Given the description of an element on the screen output the (x, y) to click on. 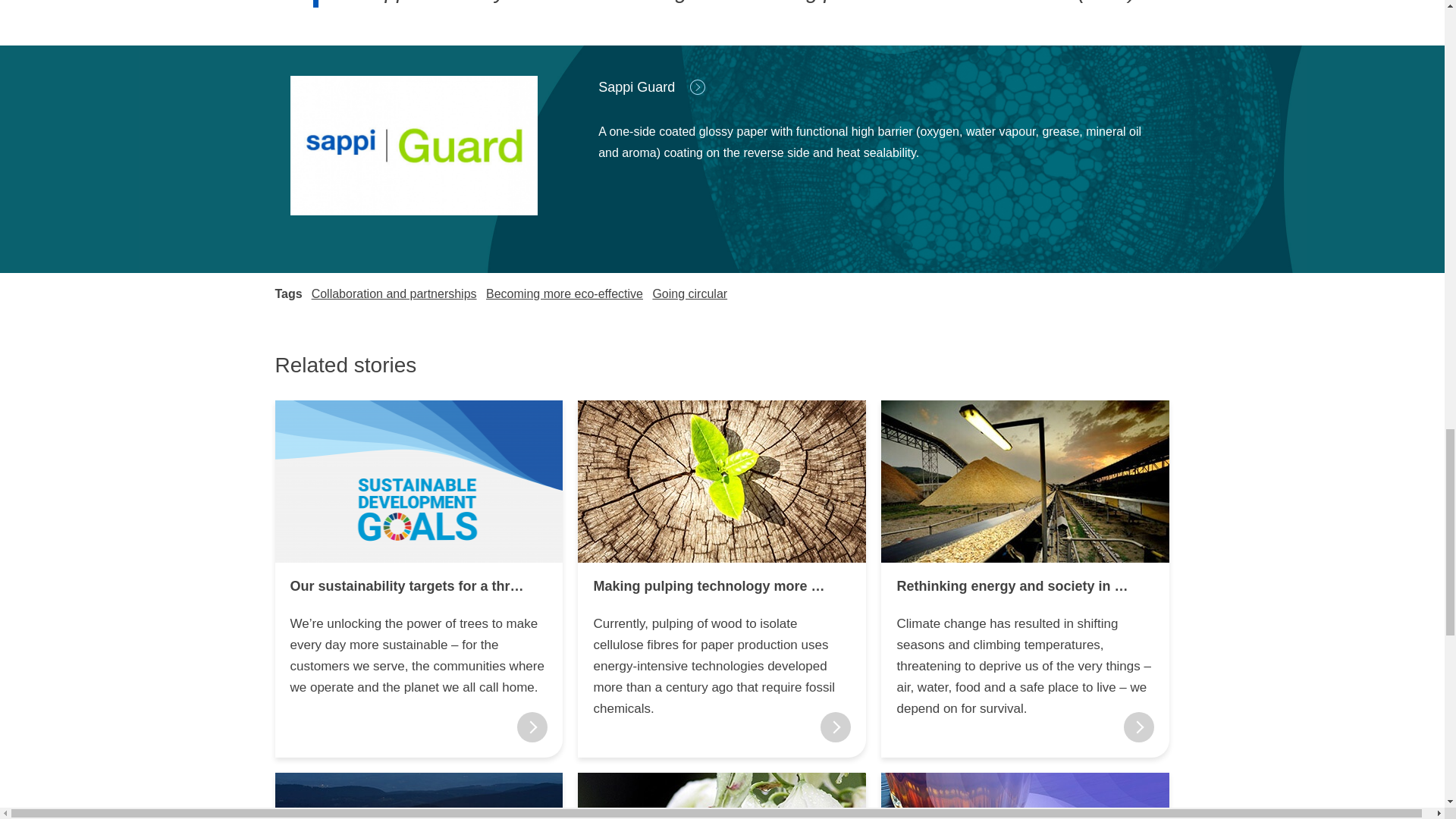
Rethinking energy and society (1024, 481)
On the scent of natural solutions (722, 796)
Brewing up new uses for woodfibre (1024, 796)
Sappi Guard (413, 145)
Diving deep into more sustainable pulping technology (722, 481)
Combining forces to use waste heat (418, 796)
